Given the description of an element on the screen output the (x, y) to click on. 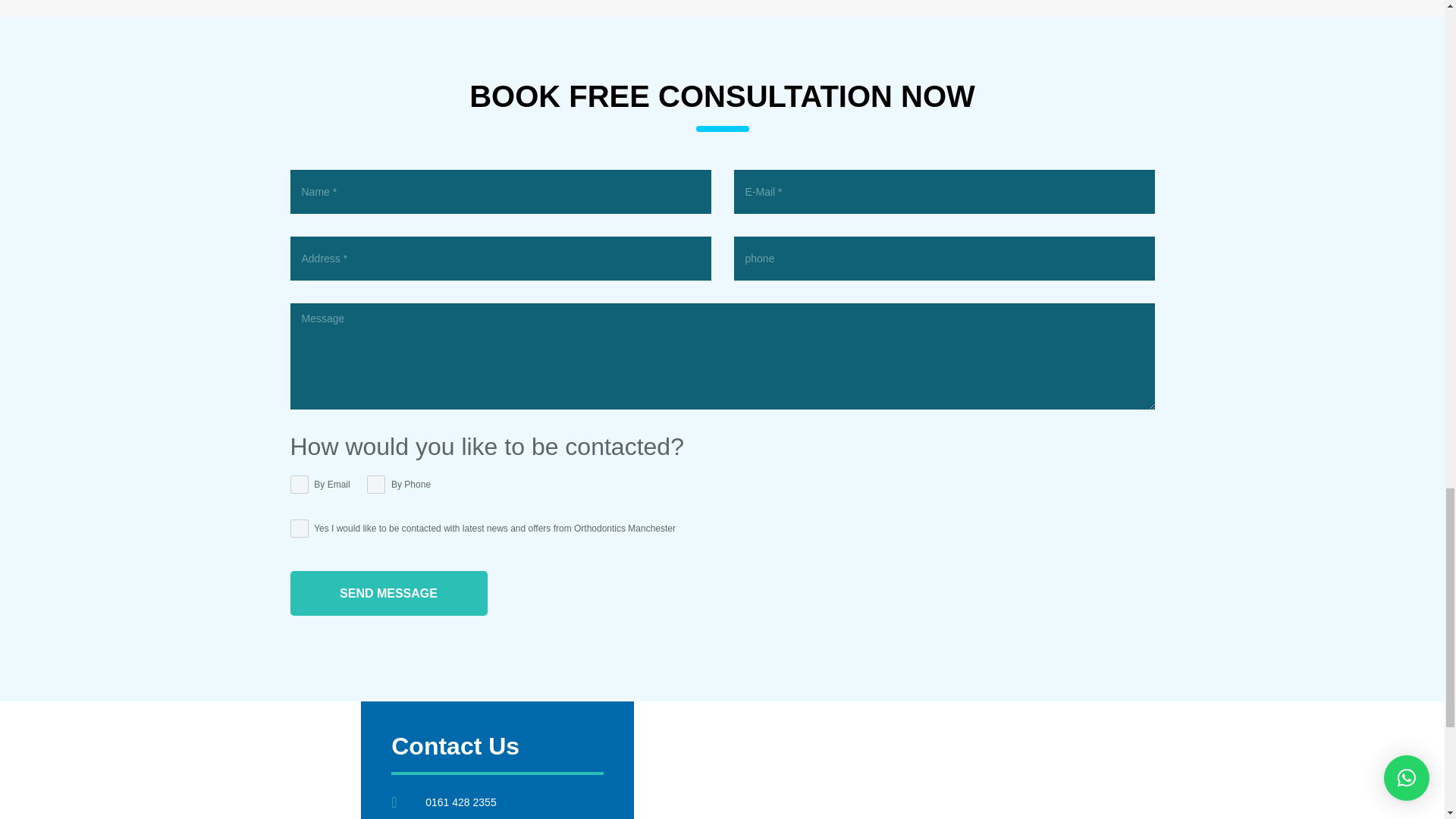
By Email (298, 484)
SEND MESSAGE (387, 592)
By Phone (375, 484)
